Given the description of an element on the screen output the (x, y) to click on. 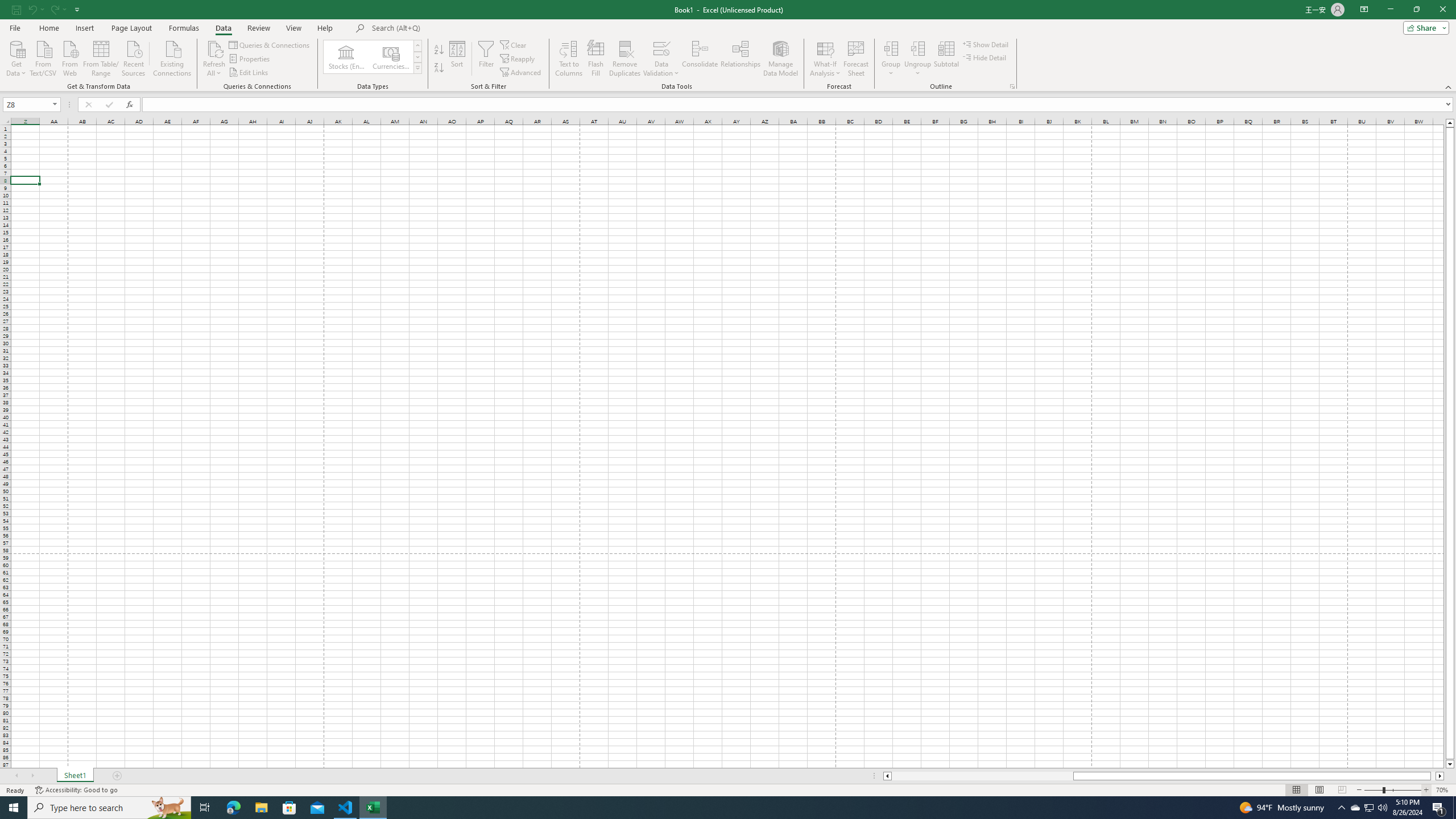
Manage Data Model (780, 58)
Stocks (English) (346, 56)
What-If Analysis (825, 58)
AutomationID: ConvertToLinkedEntity (372, 56)
Sort... (456, 58)
From Text/CSV (43, 57)
Hide Detail (985, 56)
Edit Links (249, 72)
